Given the description of an element on the screen output the (x, y) to click on. 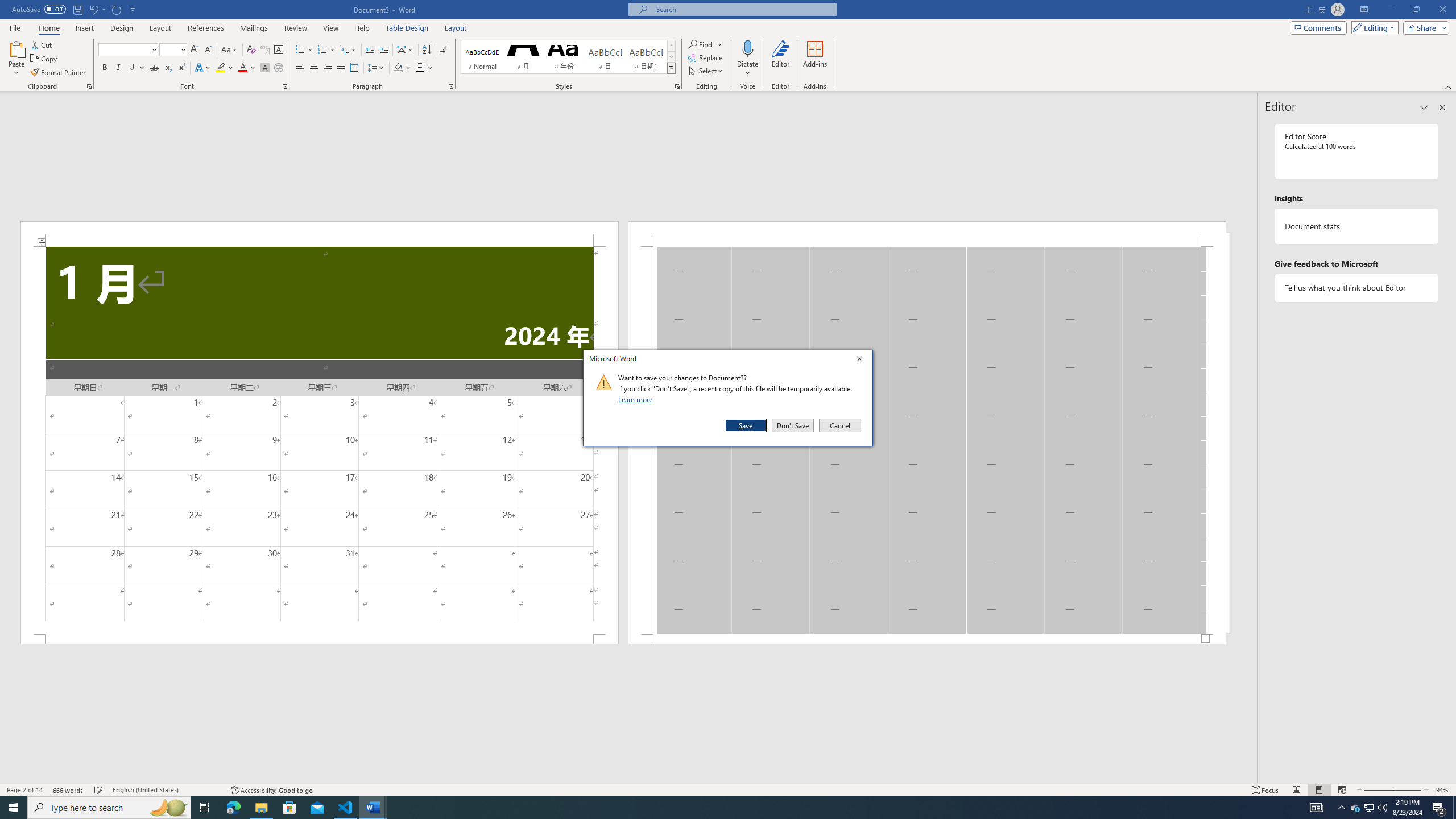
Change Case (229, 49)
Document statistics (1356, 226)
Notification Chevron (1341, 807)
Accessibility Checker Accessibility: Good to go (271, 790)
Format Painter (58, 72)
Copy (45, 58)
Strikethrough (154, 67)
Asian Layout (405, 49)
Footer -Section 1- (926, 638)
Visual Studio Code - 1 running window (345, 807)
